Given the description of an element on the screen output the (x, y) to click on. 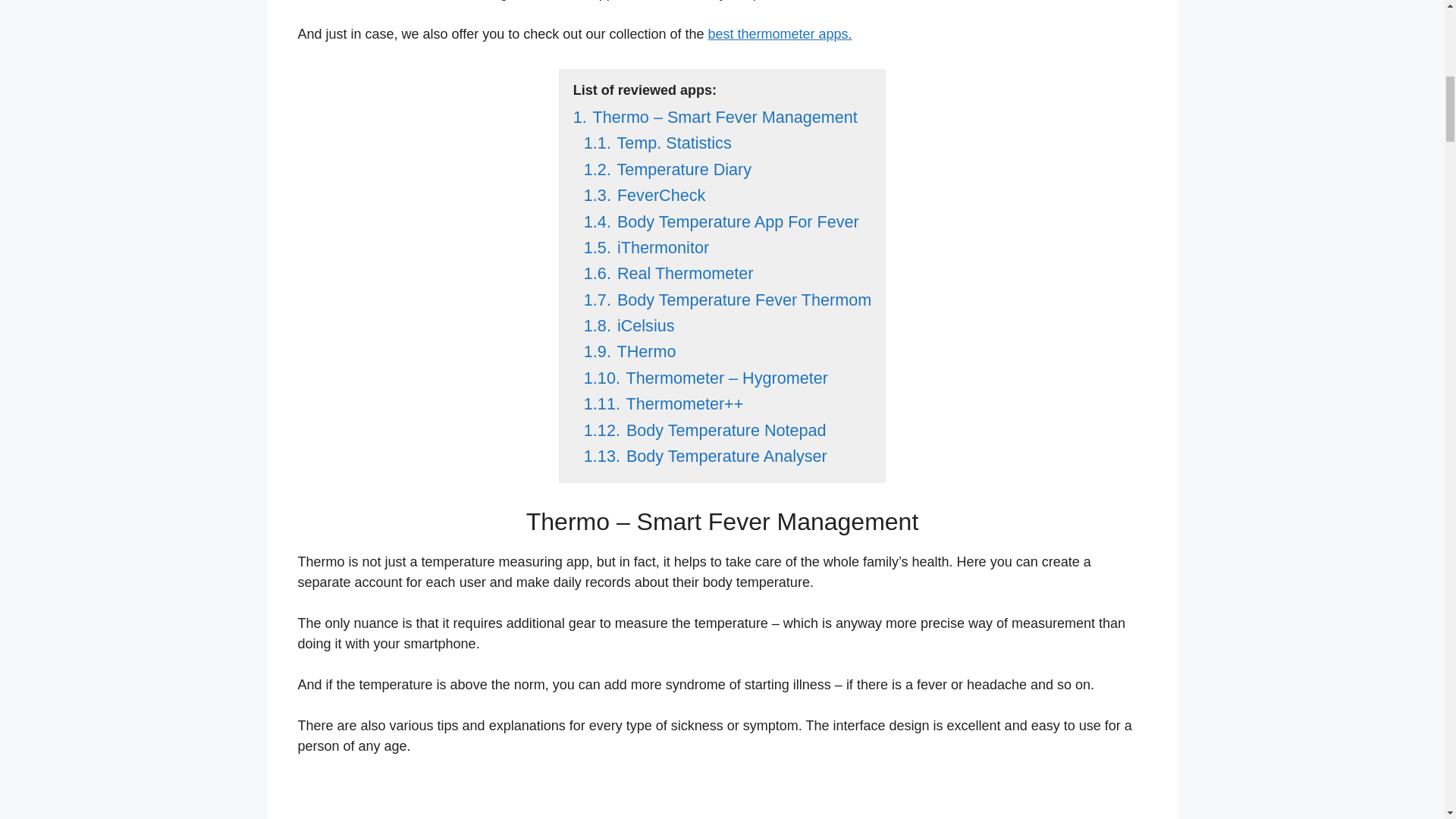
1.8. iCelsius (629, 325)
1.3. FeverCheck (643, 194)
1.9. THermo (630, 351)
1.2. Temperature Diary (667, 169)
1.7. Body Temperature Fever Thermom (726, 299)
1.4. Body Temperature App For Fever (721, 221)
best thermometer apps. (779, 33)
1.5. iThermonitor (646, 247)
1.6. Real Thermometer (668, 272)
1.1. Temp. Statistics (657, 142)
